Given the description of an element on the screen output the (x, y) to click on. 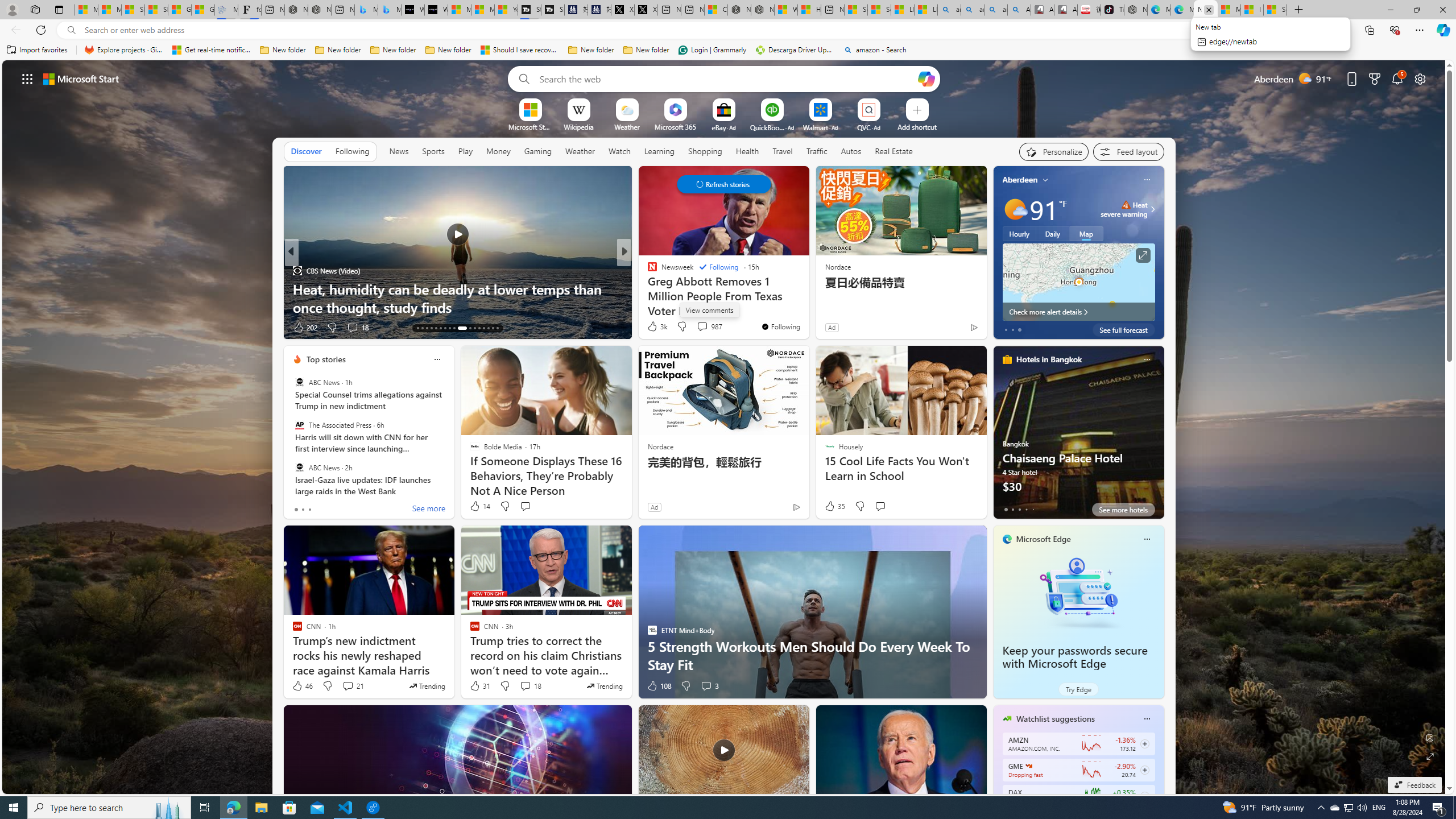
AutomationID: tab-27 (488, 328)
tab-3 (1025, 509)
PsychLove (647, 270)
Map (1085, 233)
Microsoft Edge (1043, 538)
Workspaces (34, 9)
Hourly (1018, 233)
New folder (646, 49)
Microsoft Start Sports (459, 9)
Browser essentials (1394, 29)
The Weather Channel (647, 270)
